Given the description of an element on the screen output the (x, y) to click on. 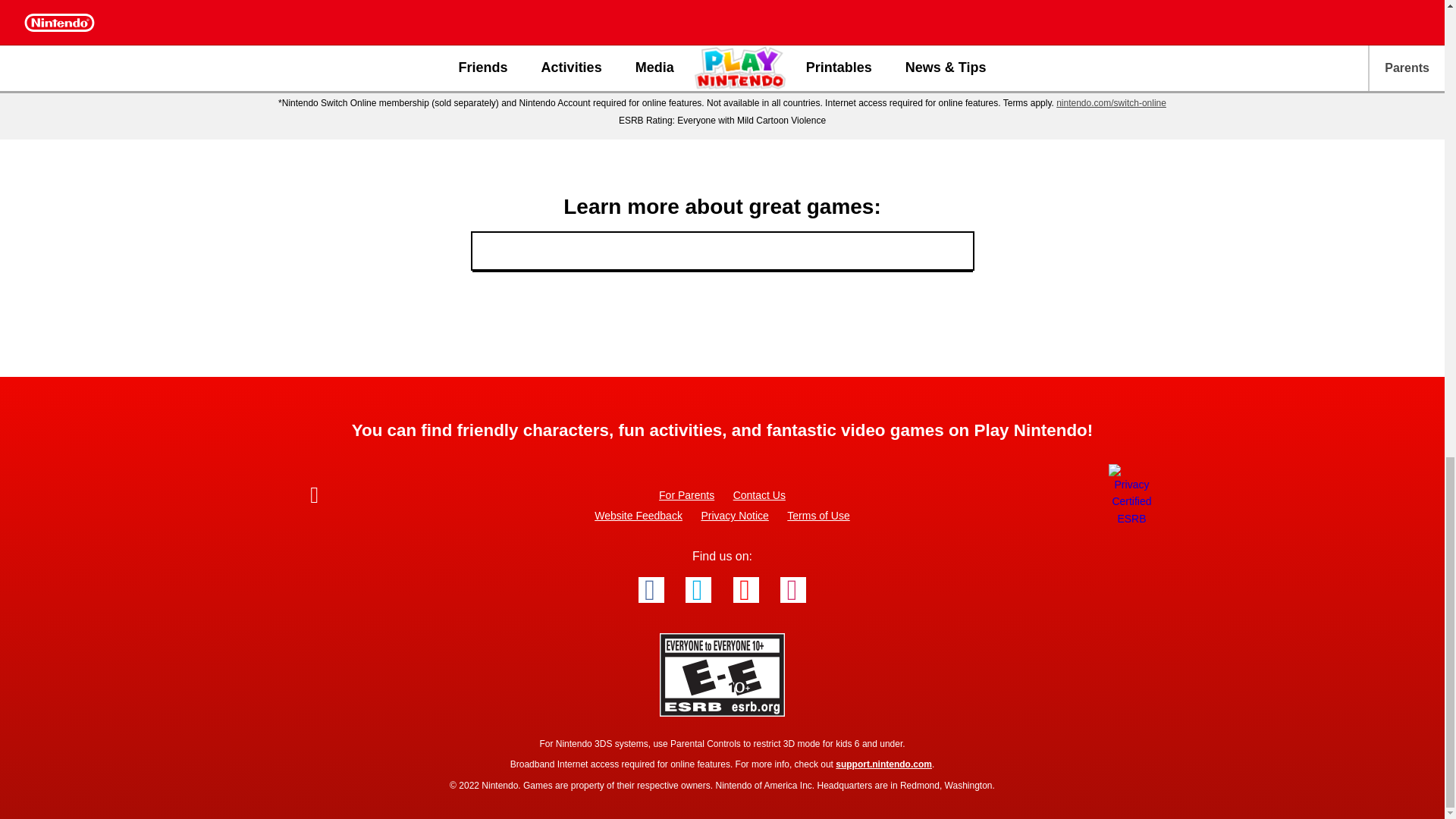
Nintendo (355, 497)
Facebook (651, 589)
Instagram (793, 589)
official site (715, 62)
Twitter (698, 589)
support.nintendo.com (883, 764)
For Parents (686, 494)
Terms of Use (817, 515)
Website Feedback (638, 515)
YouTube (745, 589)
